Given the description of an element on the screen output the (x, y) to click on. 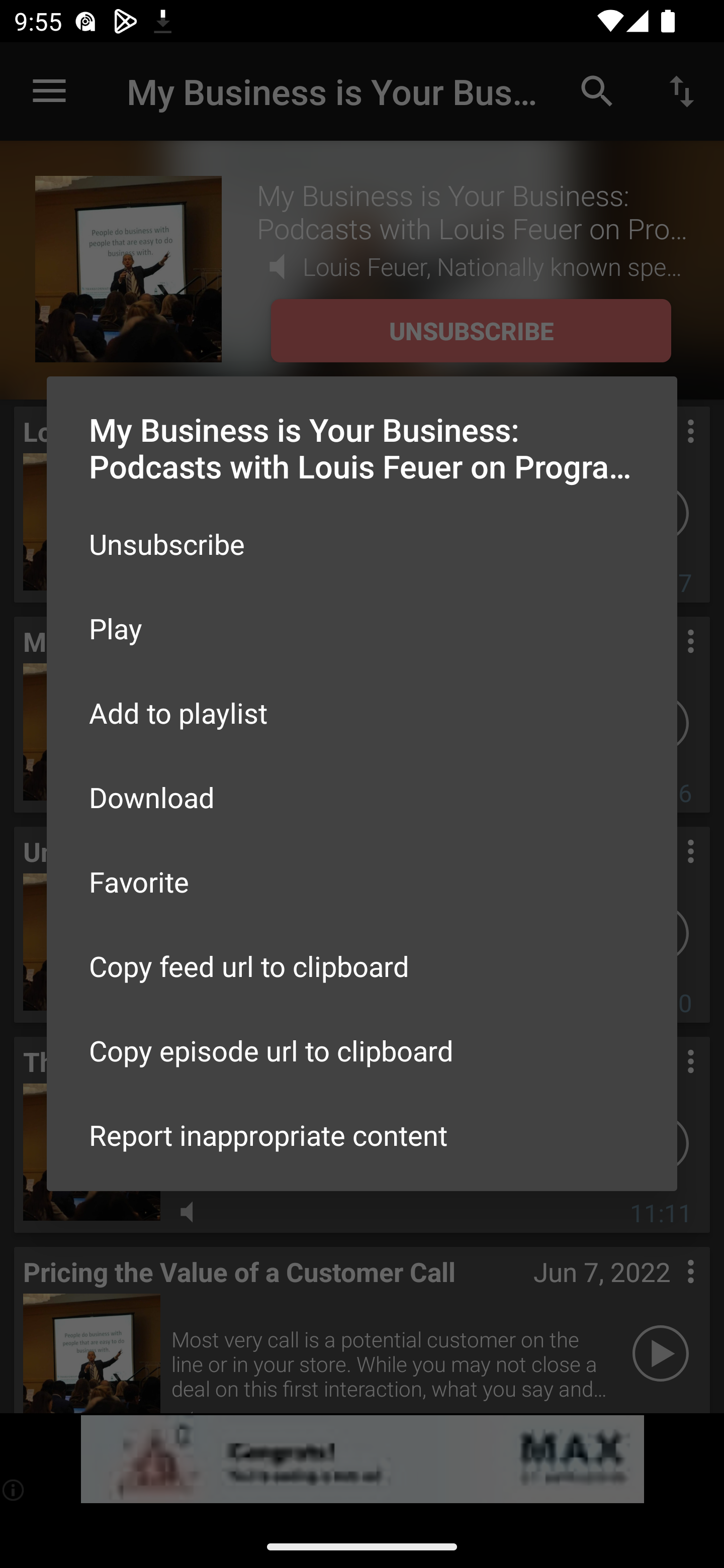
Unsubscribe (361, 543)
Play (361, 628)
Add to playlist (361, 712)
Download (361, 796)
Favorite (361, 880)
Copy feed url to clipboard (361, 965)
Copy episode url to clipboard (361, 1050)
Report inappropriate content (361, 1134)
